Given the description of an element on the screen output the (x, y) to click on. 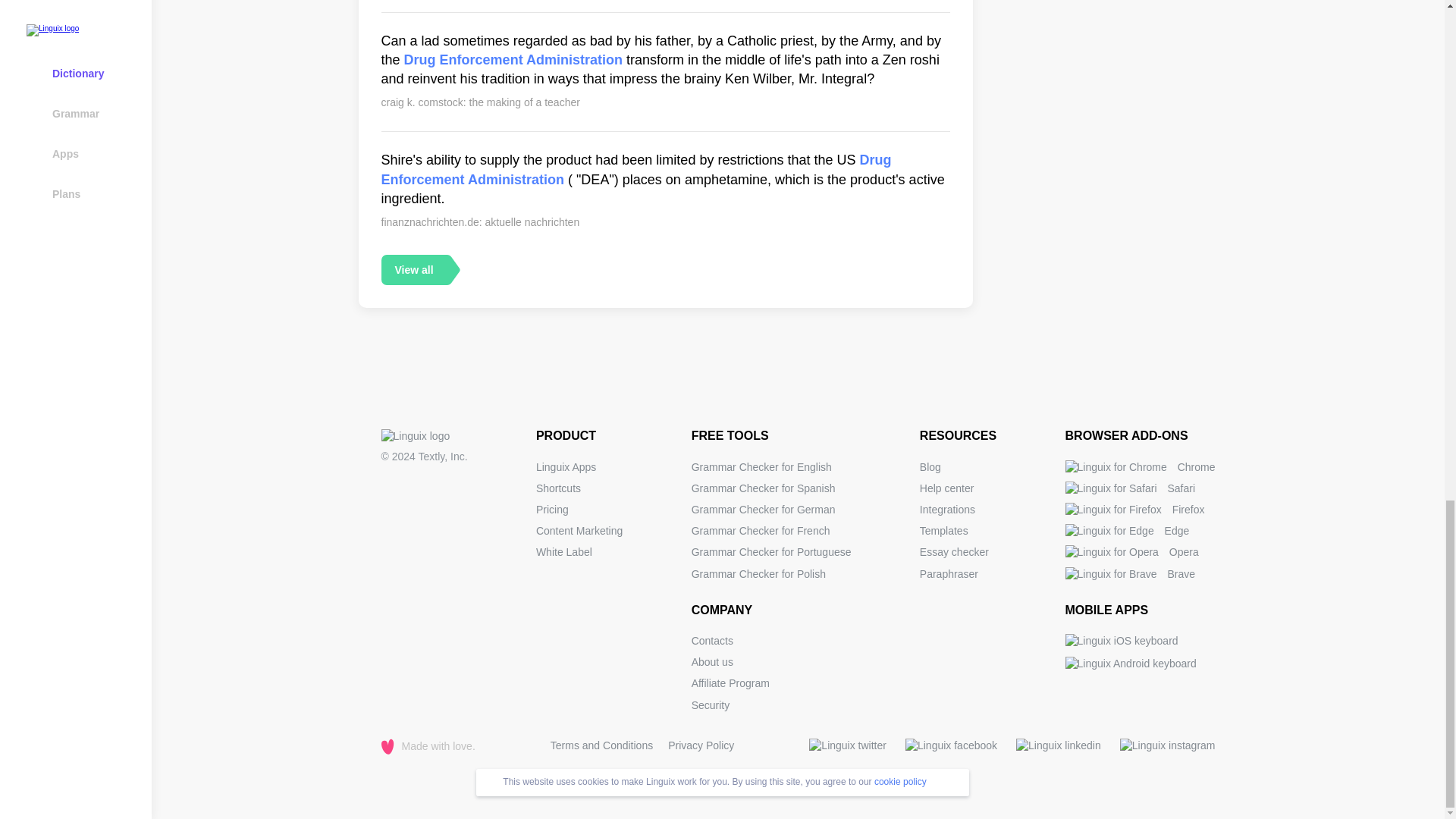
Essay checker (954, 551)
Paraphraser (949, 573)
Grammar Checker for Polish (758, 573)
Shortcuts (557, 488)
Grammar Checker for Spanish (763, 488)
Grammar Checker for German (763, 509)
Grammar Checker for English (761, 467)
Grammar Checker for French (760, 530)
View all (413, 269)
Grammar Checker for Portuguese (771, 551)
